Given the description of an element on the screen output the (x, y) to click on. 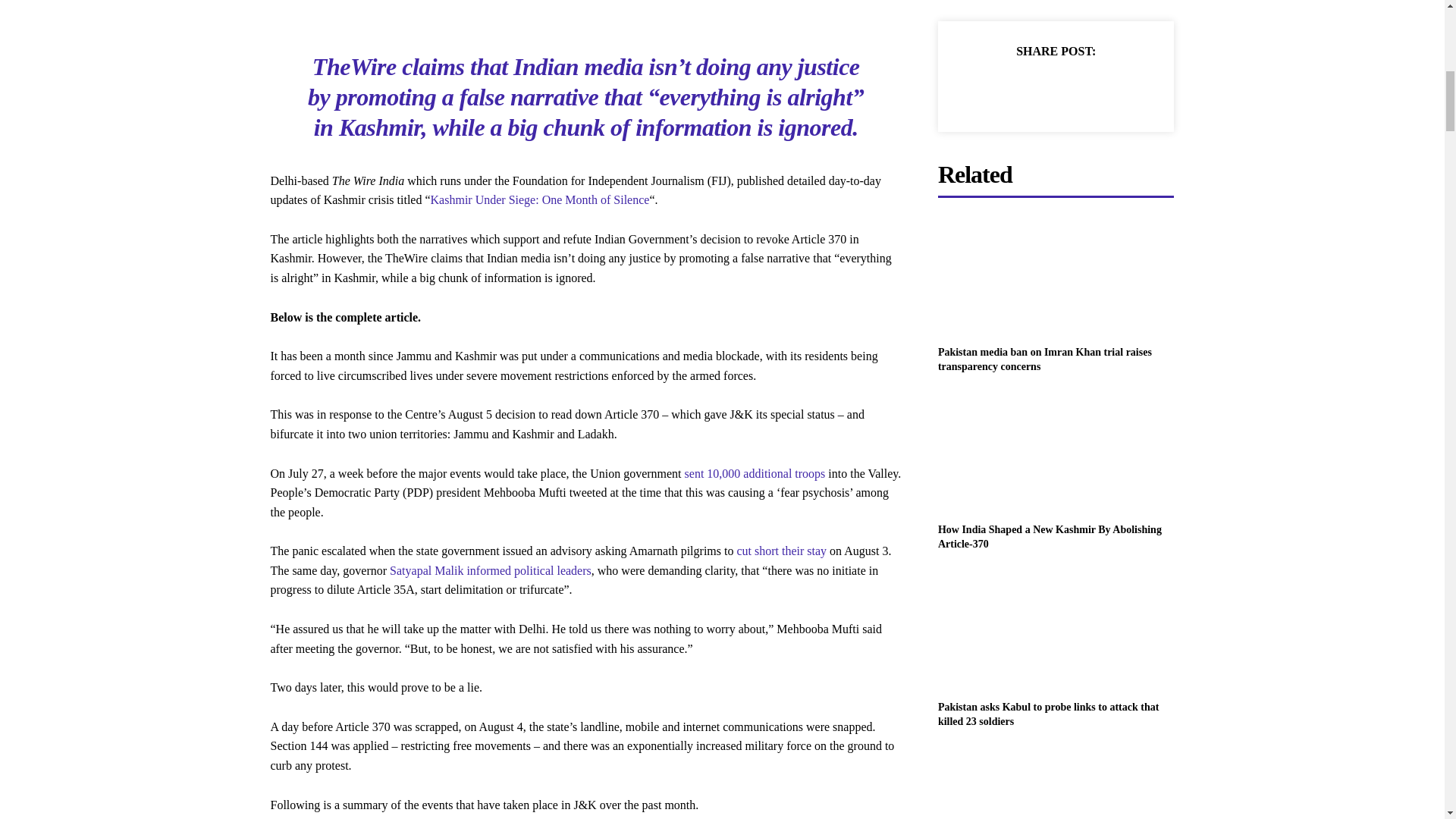
How India Shaped a New Kashmir By Abolishing Article-370 (1055, 452)
How India Shaped a New Kashmir By Abolishing Article-370 (1049, 537)
